Given the description of an element on the screen output the (x, y) to click on. 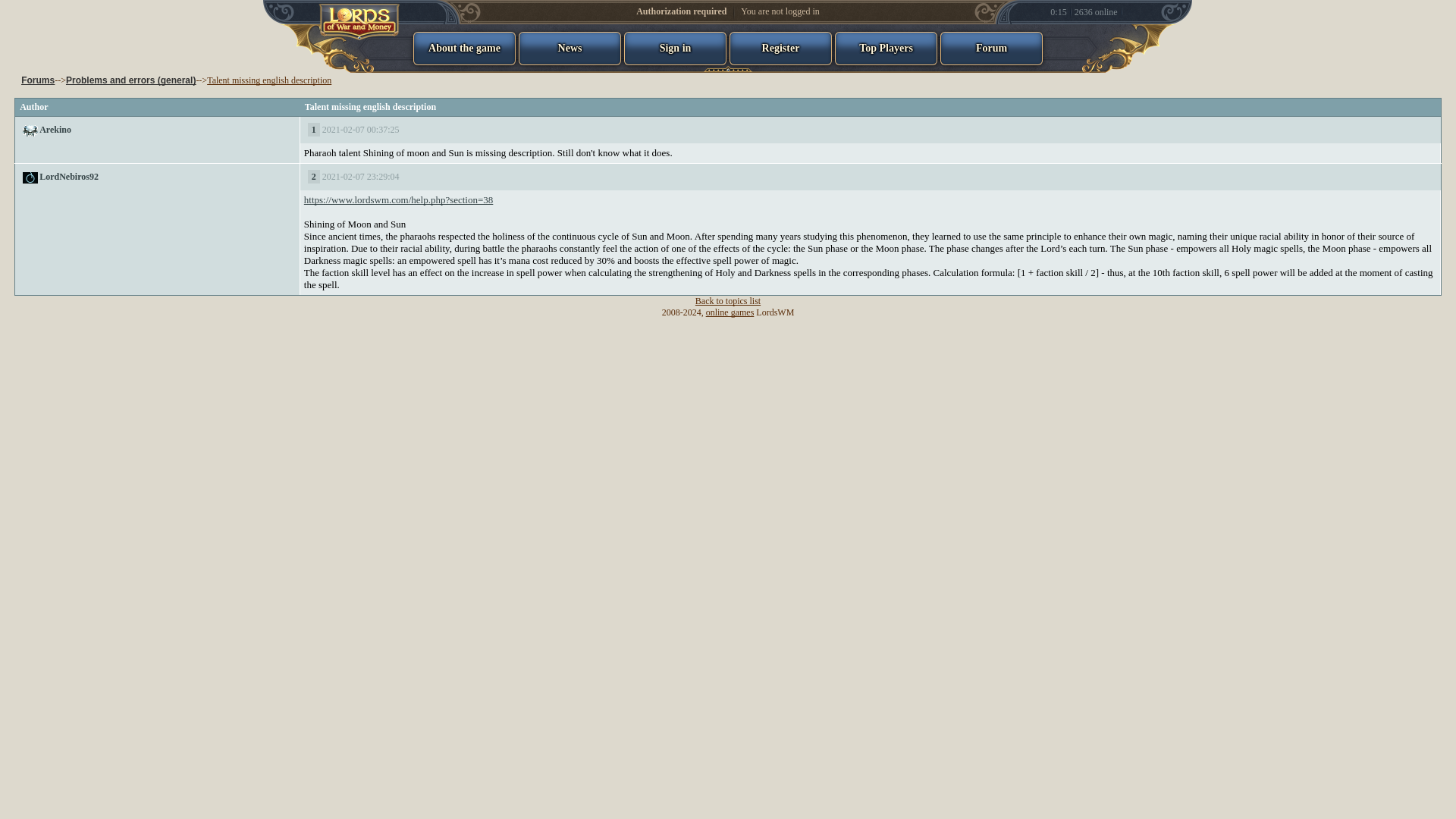
Talent missing english description (268, 80)
Forums (38, 80)
Arekino (55, 129)
LordNebiros92 (69, 176)
online games (730, 312)
Back to topics list (727, 300)
